Given the description of an element on the screen output the (x, y) to click on. 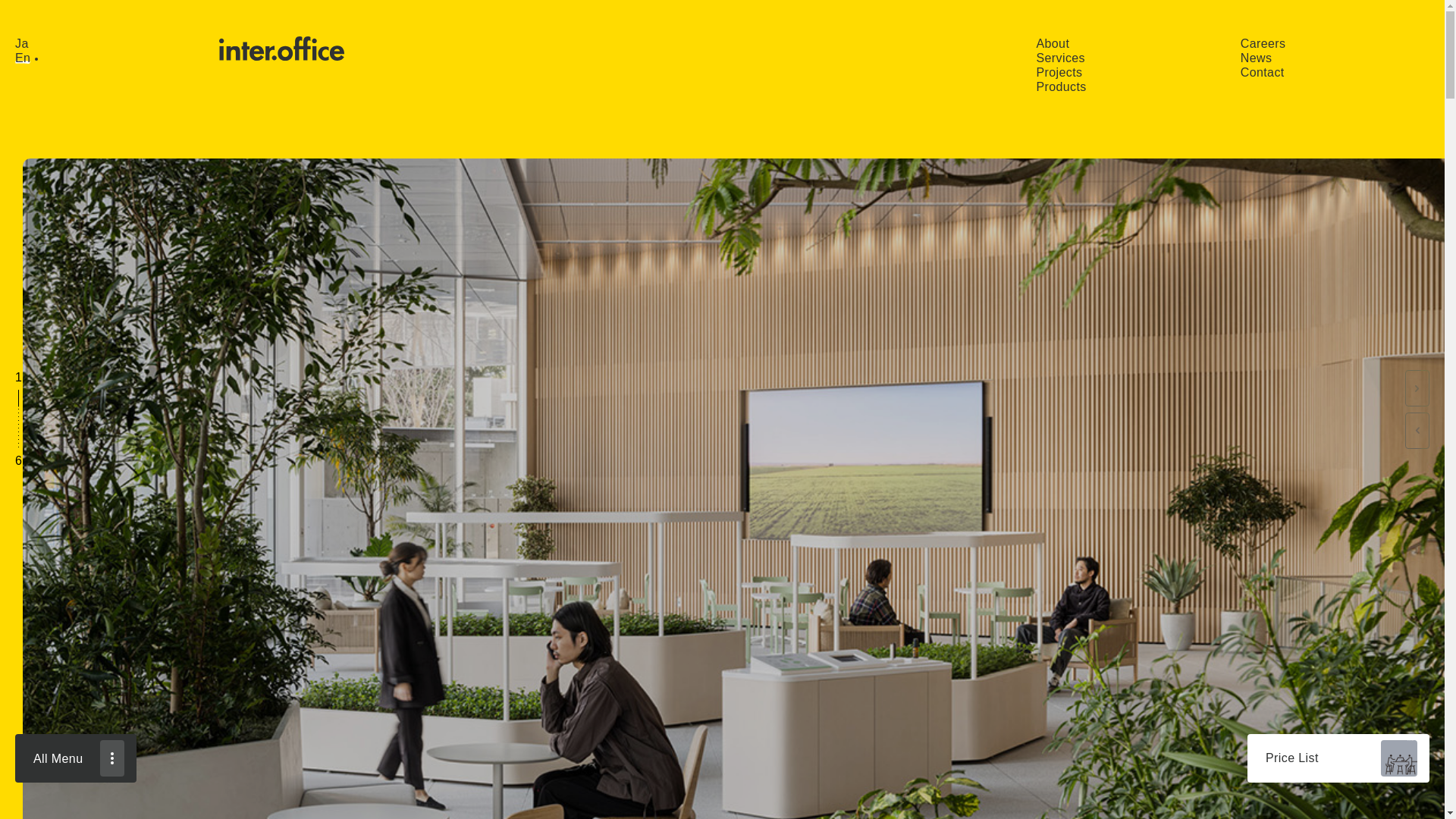
Ja (25, 43)
Price List (1338, 757)
Services (1064, 57)
Contact (1267, 72)
Projects (1062, 72)
Careers (1267, 43)
Products (1064, 86)
News (1260, 57)
En (25, 57)
About (1056, 43)
